Given the description of an element on the screen output the (x, y) to click on. 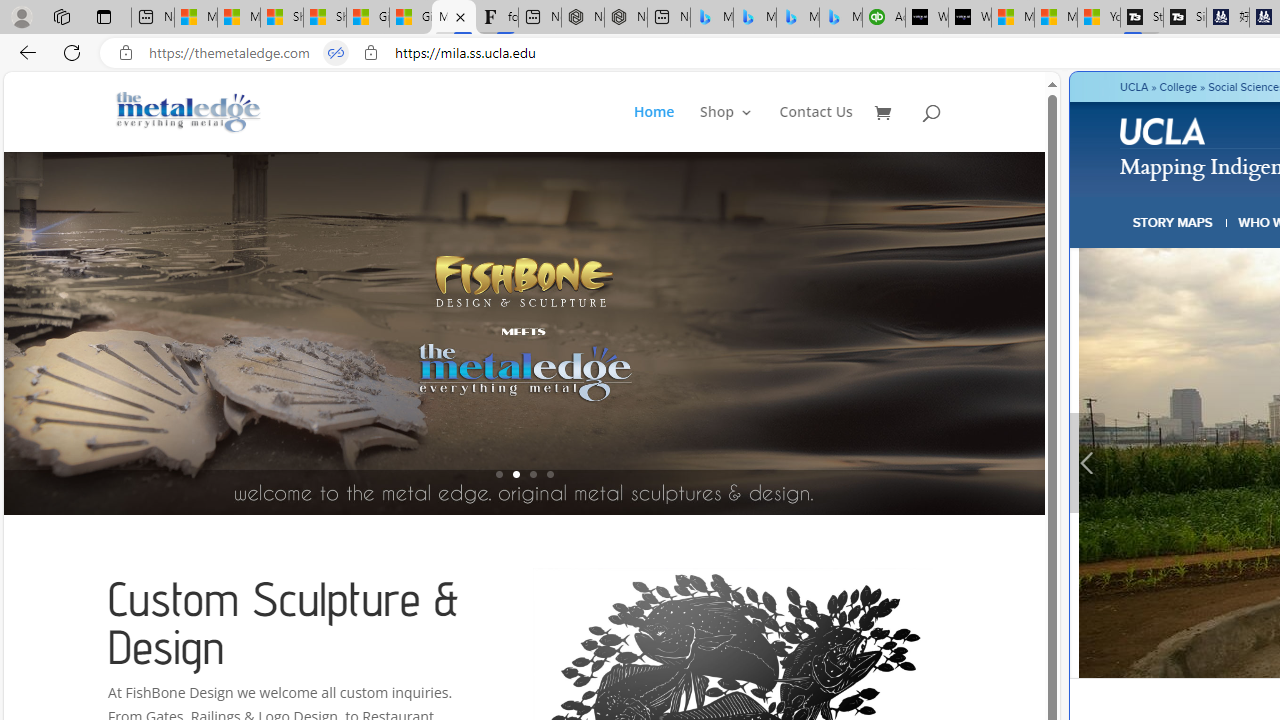
Metal Fish Sculptures & Metal Designs (189, 111)
UCLA logo (1162, 130)
2 (515, 474)
